Given the description of an element on the screen output the (x, y) to click on. 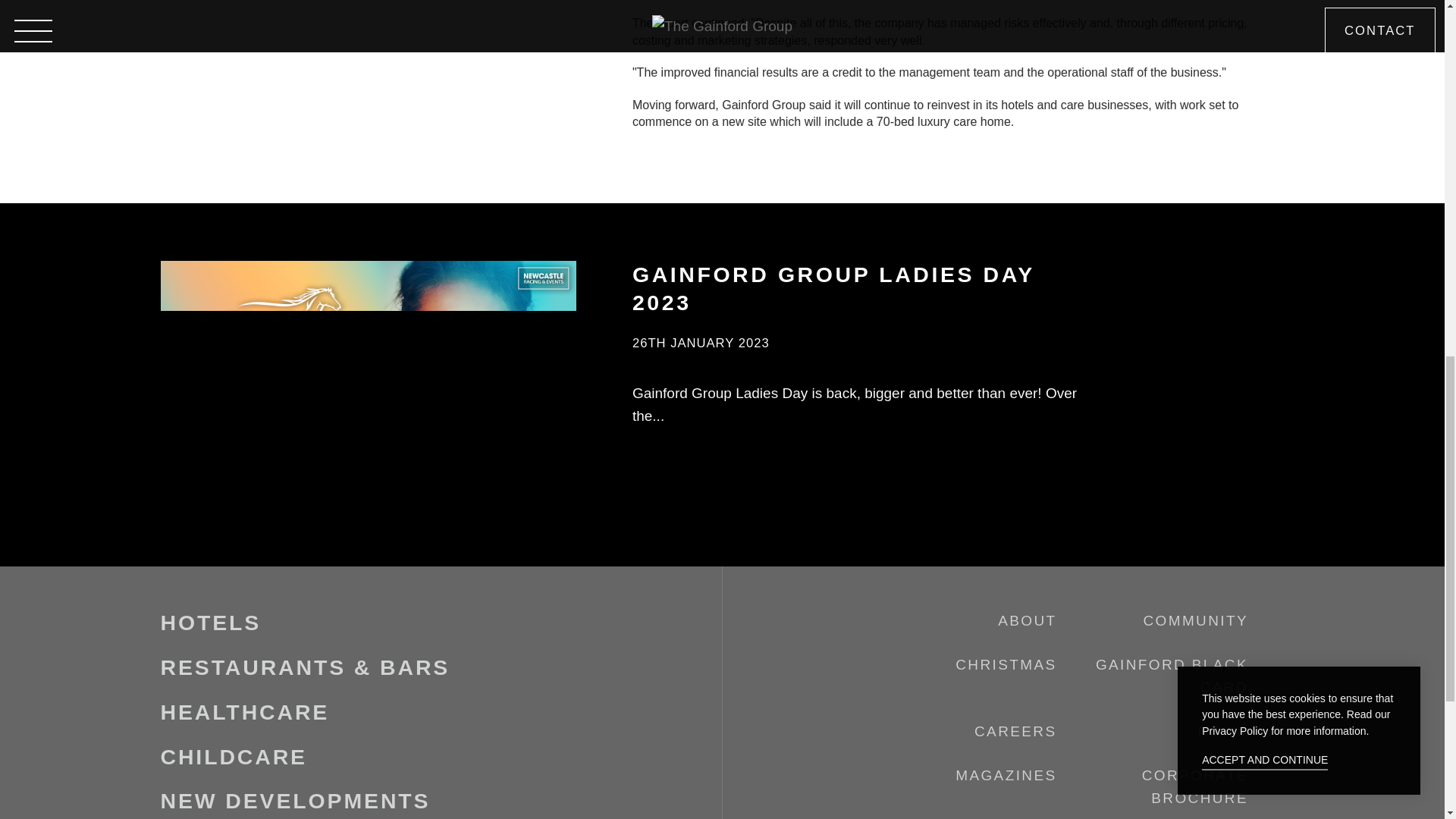
MAGAZINES (1006, 774)
ABOUT (1027, 620)
CHILDCARE (233, 756)
NEW DEVELOPMENTS (295, 800)
CHRISTMAS (1006, 664)
GAINFORD BLACK CARD (1171, 675)
CAREERS (1015, 731)
COMMUNITY (1194, 620)
NEWS (1223, 731)
HOTELS (211, 622)
CORPORATE BROCHURE (1194, 786)
HEALTHCARE (245, 711)
